Given the description of an element on the screen output the (x, y) to click on. 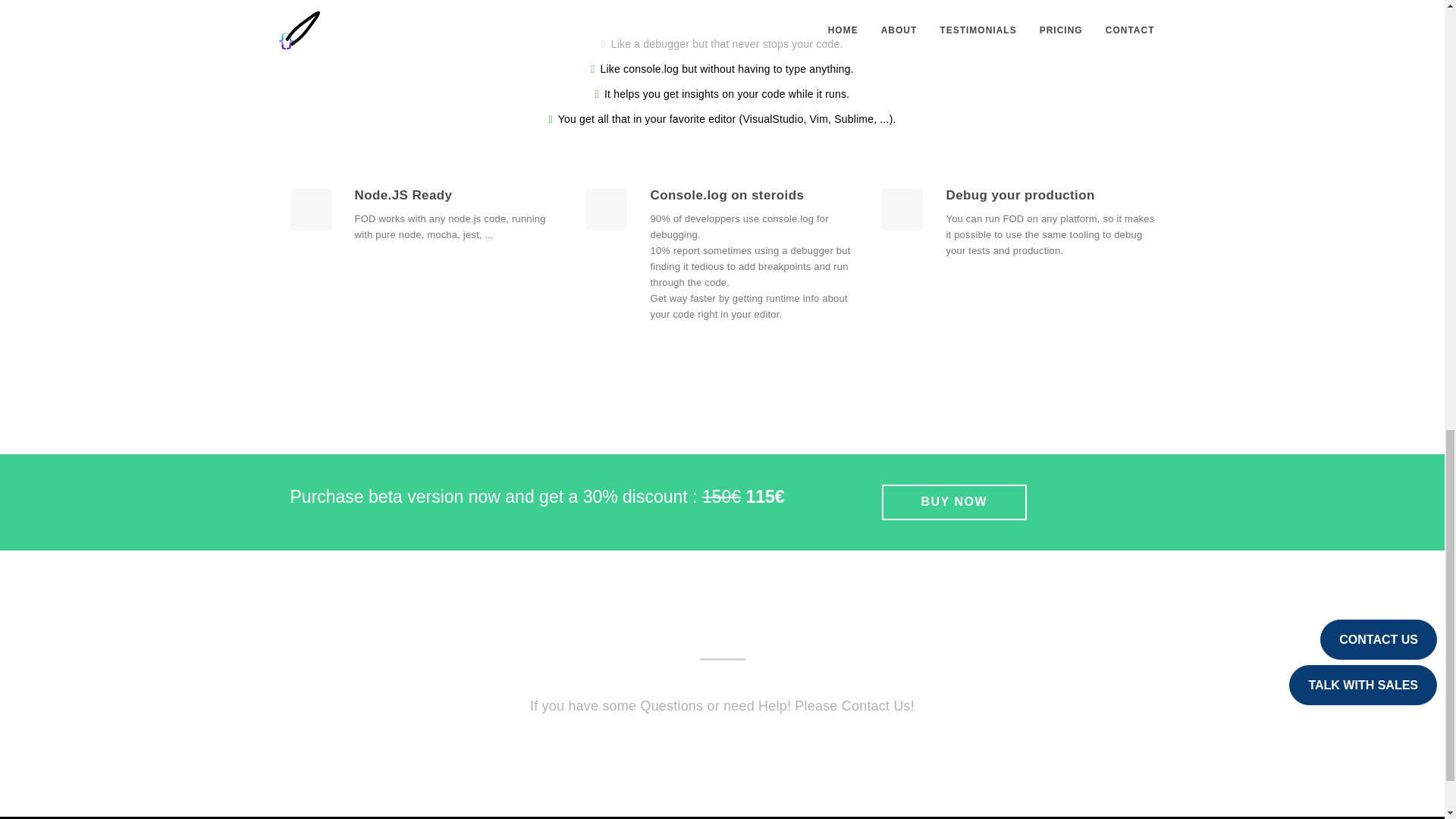
BUY NOW (953, 502)
